Given the description of an element on the screen output the (x, y) to click on. 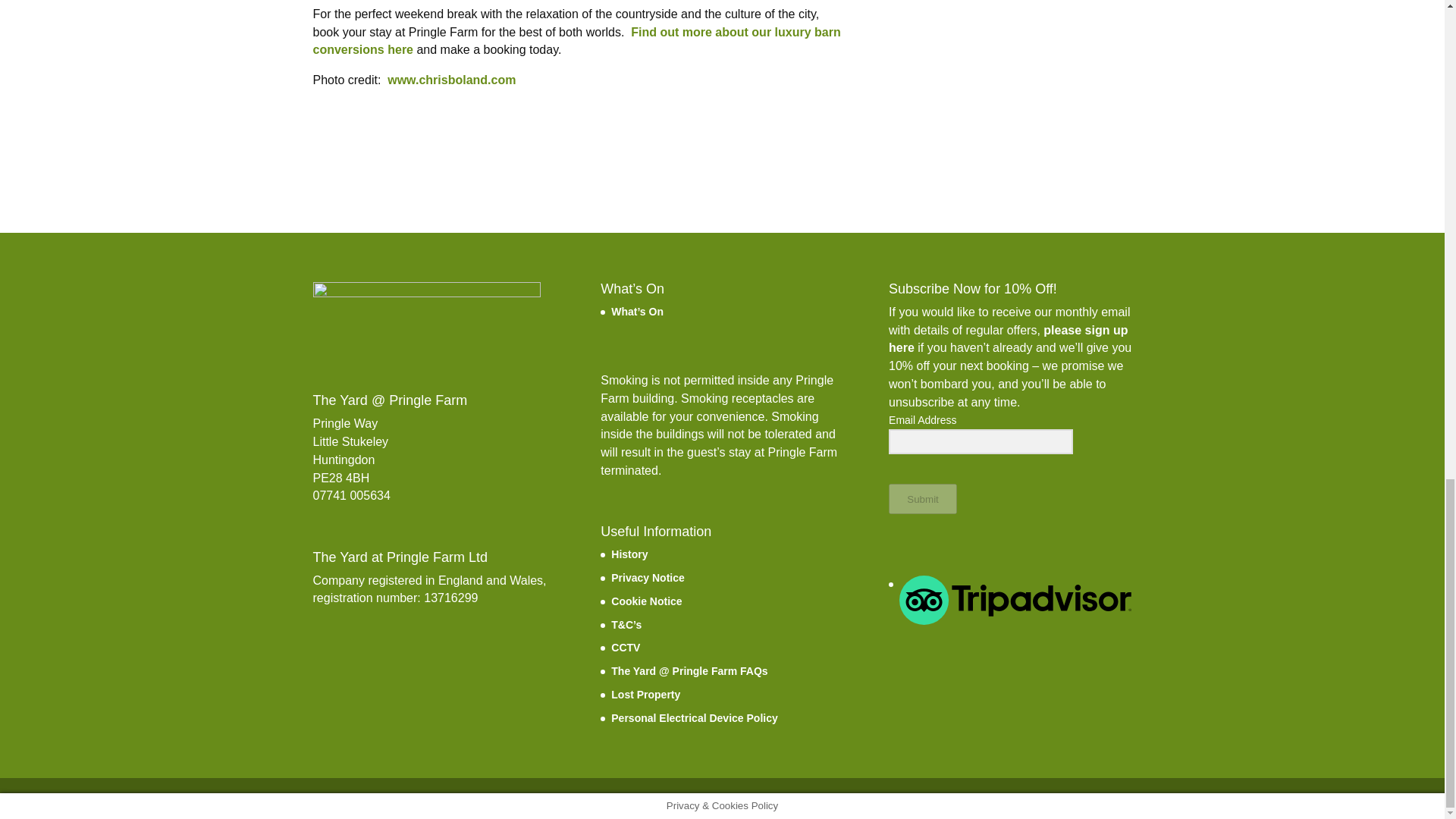
Personal Electrical Device Policy (694, 717)
History (629, 553)
Privacy Notice (647, 577)
Cookie Notice (646, 601)
Lost Property (645, 694)
Find out more about our luxury barn conversions here (576, 40)
www.chrisboland.com (451, 79)
CCTV (625, 647)
Submit (922, 499)
